Given the description of an element on the screen output the (x, y) to click on. 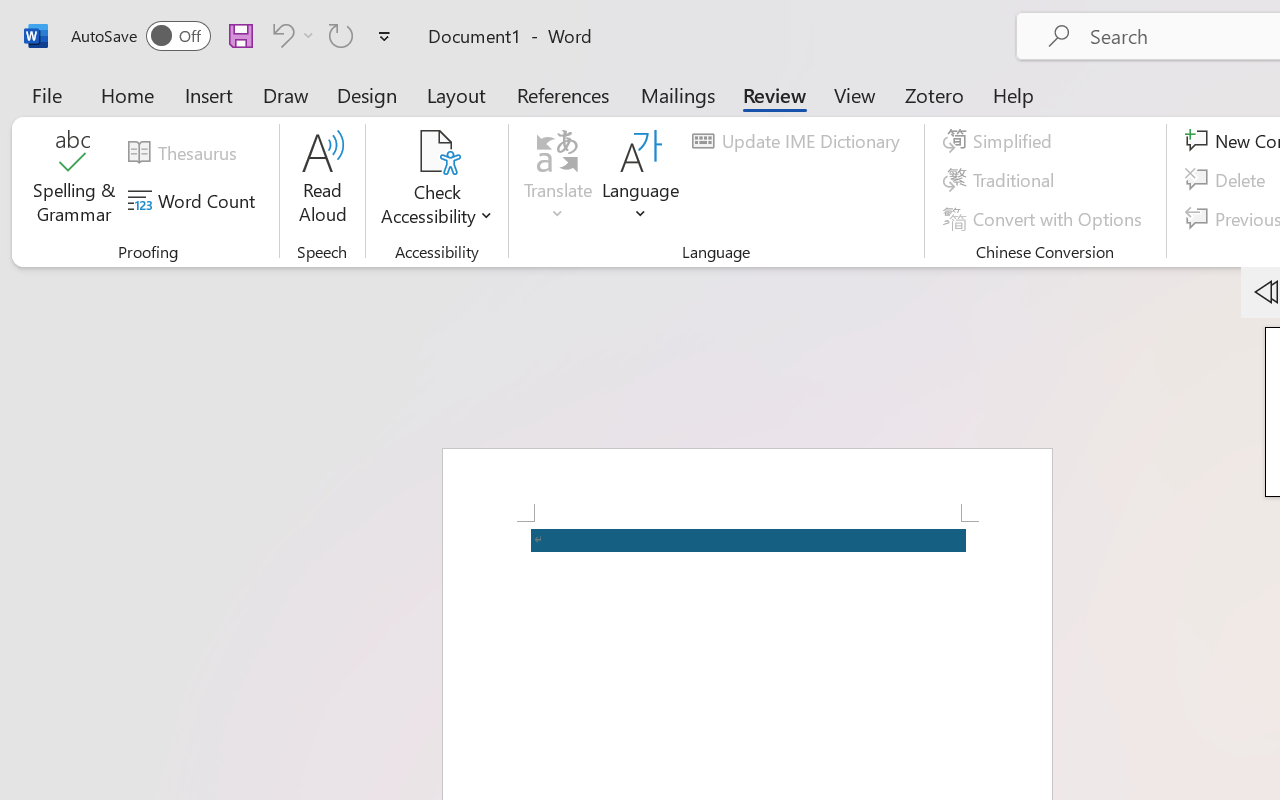
Language (641, 179)
Repeat Accessibility Checker (341, 35)
Check Accessibility (436, 179)
Update IME Dictionary... (799, 141)
Convert with Options... (1045, 218)
